Given the description of an element on the screen output the (x, y) to click on. 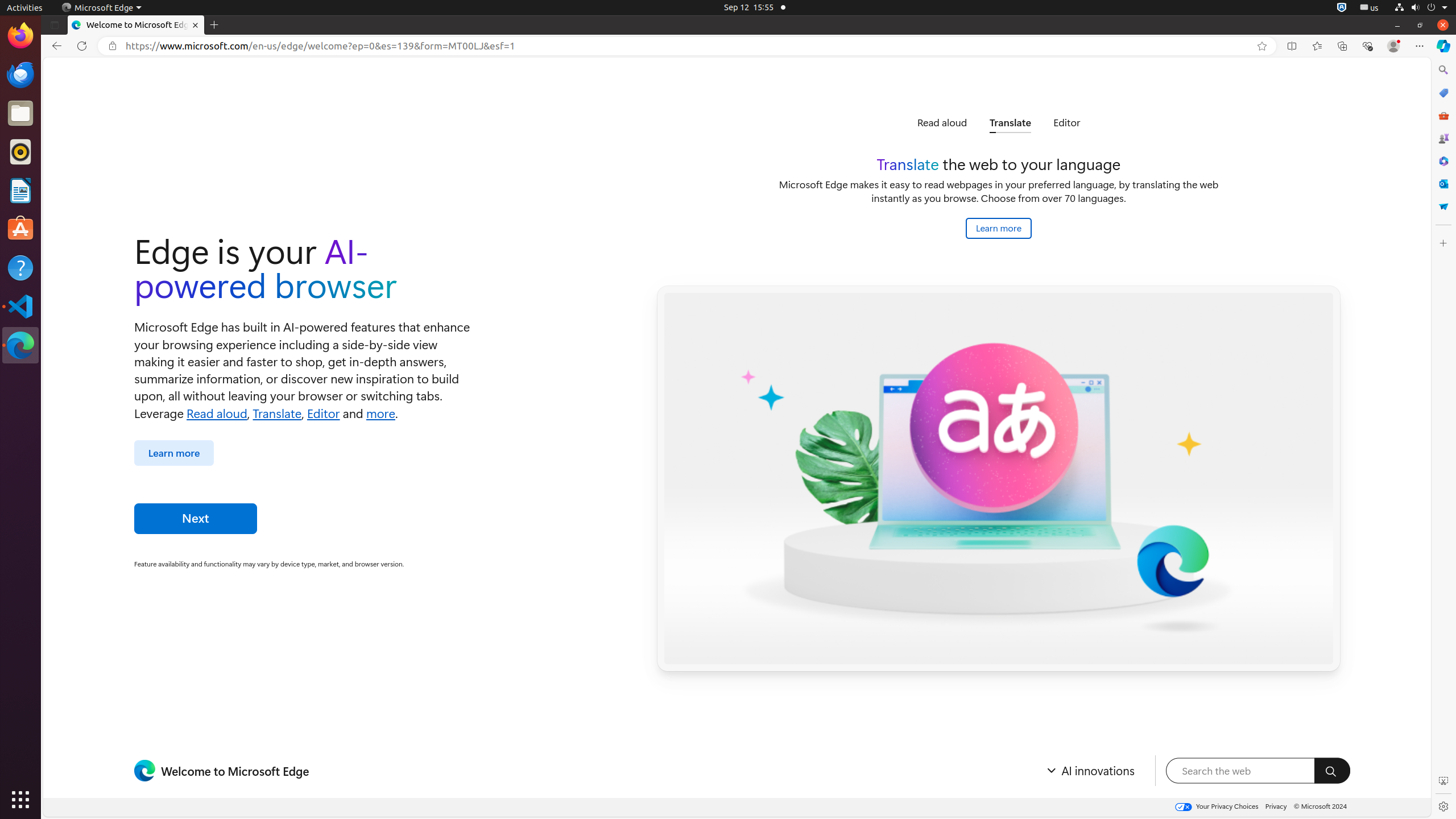
Next Element type: push-button (195, 518)
Scroll to previous Element type: push-button (881, 122)
Help Element type: push-button (20, 267)
Favorites Element type: push-button (1316, 45)
Collections Element type: push-button (1341, 45)
